Given the description of an element on the screen output the (x, y) to click on. 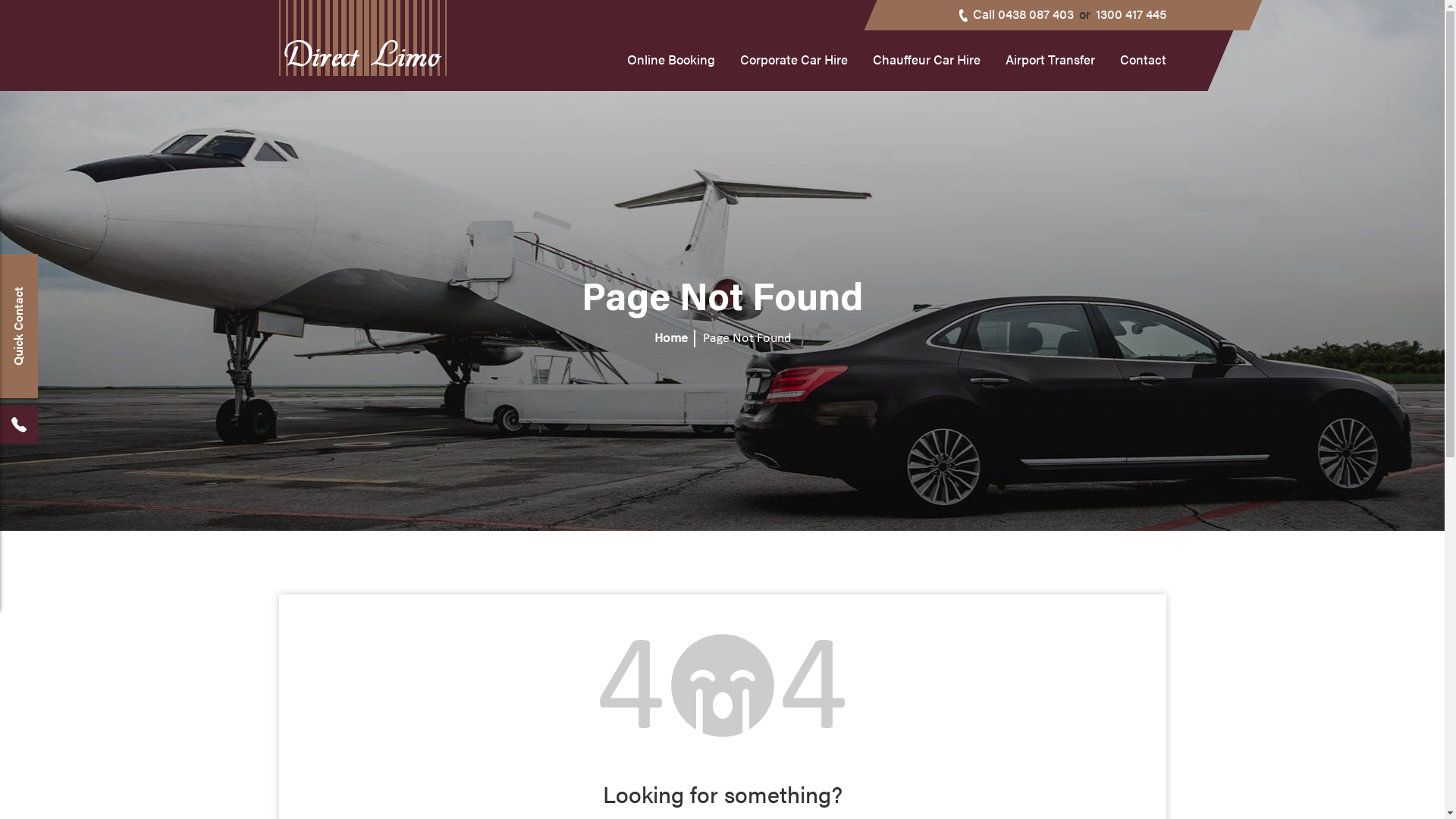
Contact Element type: text (1142, 65)
Corporate Car Hire Element type: text (793, 65)
Home Element type: text (670, 338)
1300 417 445 Element type: text (1130, 13)
Direct Limo Services Element type: hover (362, 45)
Online Booking Element type: text (670, 65)
Airport Transfer Element type: text (1050, 65)
0438 087 403 Element type: text (1035, 13)
Chauffeur Car Hire Element type: text (925, 65)
